Given the description of an element on the screen output the (x, y) to click on. 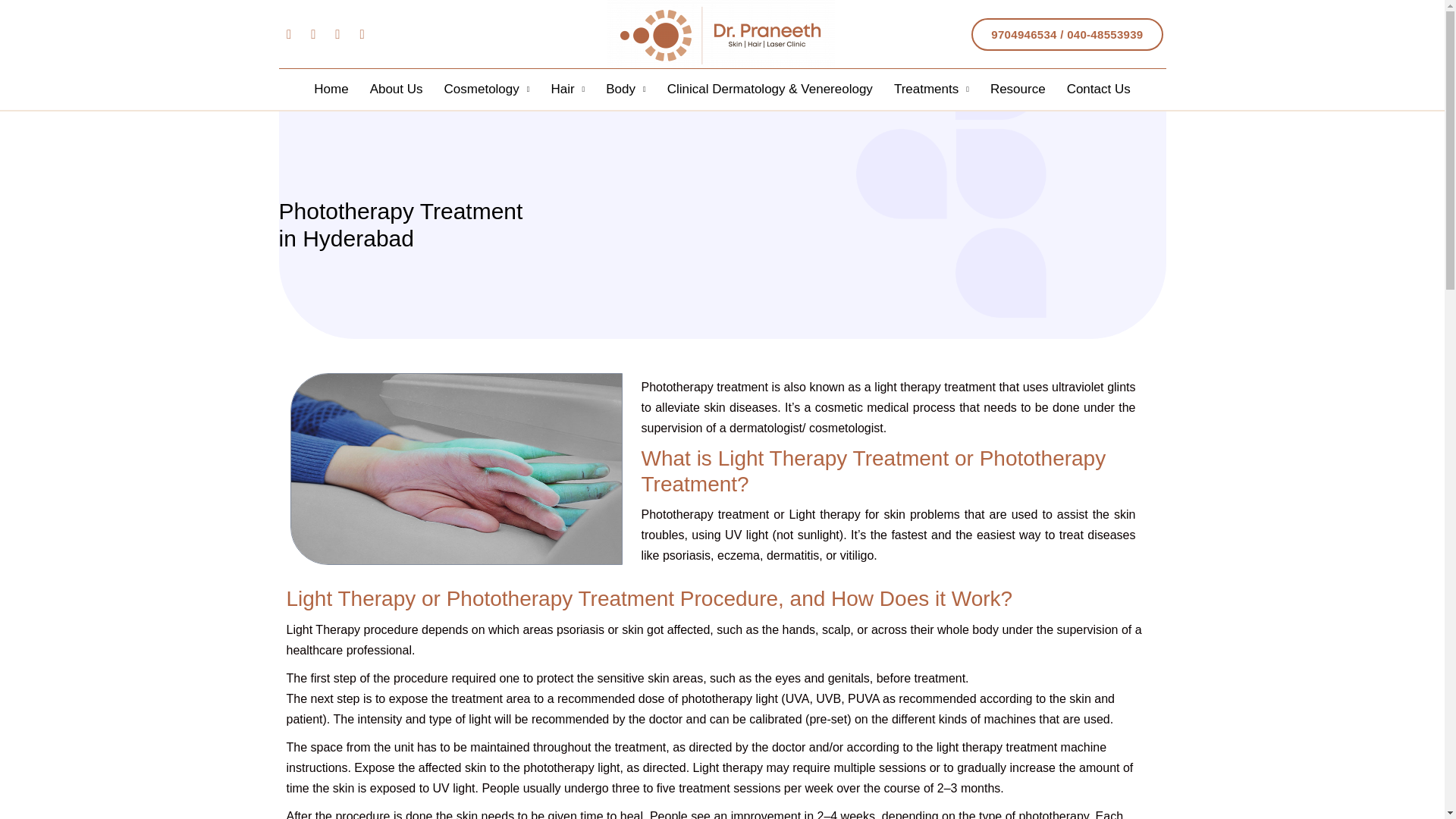
Treatments (931, 88)
Cosmetology (486, 88)
Body (625, 88)
Home (330, 88)
logo (720, 33)
Contact Us (1099, 88)
Resource (1018, 88)
About Us (396, 88)
Hair (567, 88)
